Given the description of an element on the screen output the (x, y) to click on. 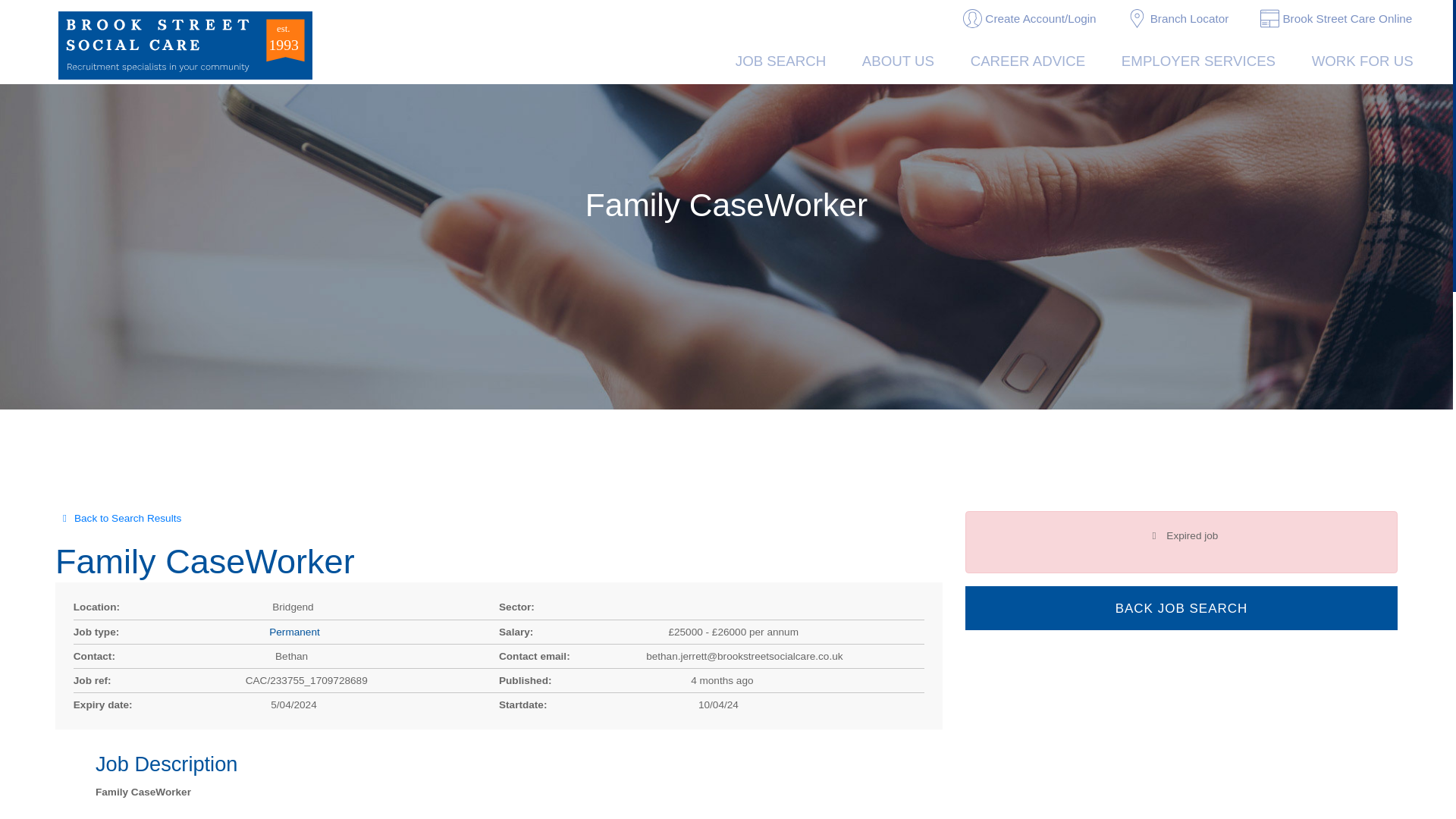
Branch Locator (1178, 20)
Brook Street Social Care (184, 45)
BACK JOB SEARCH (1181, 607)
JOB SEARCH (780, 62)
Brook Street Care Online (1336, 20)
CAREER ADVICE (1027, 62)
EMPLOYER SERVICES (1198, 62)
ABOUT US (898, 62)
WORK FOR US (1362, 62)
Back to Search Results (498, 518)
Permanent (294, 632)
